Given the description of an element on the screen output the (x, y) to click on. 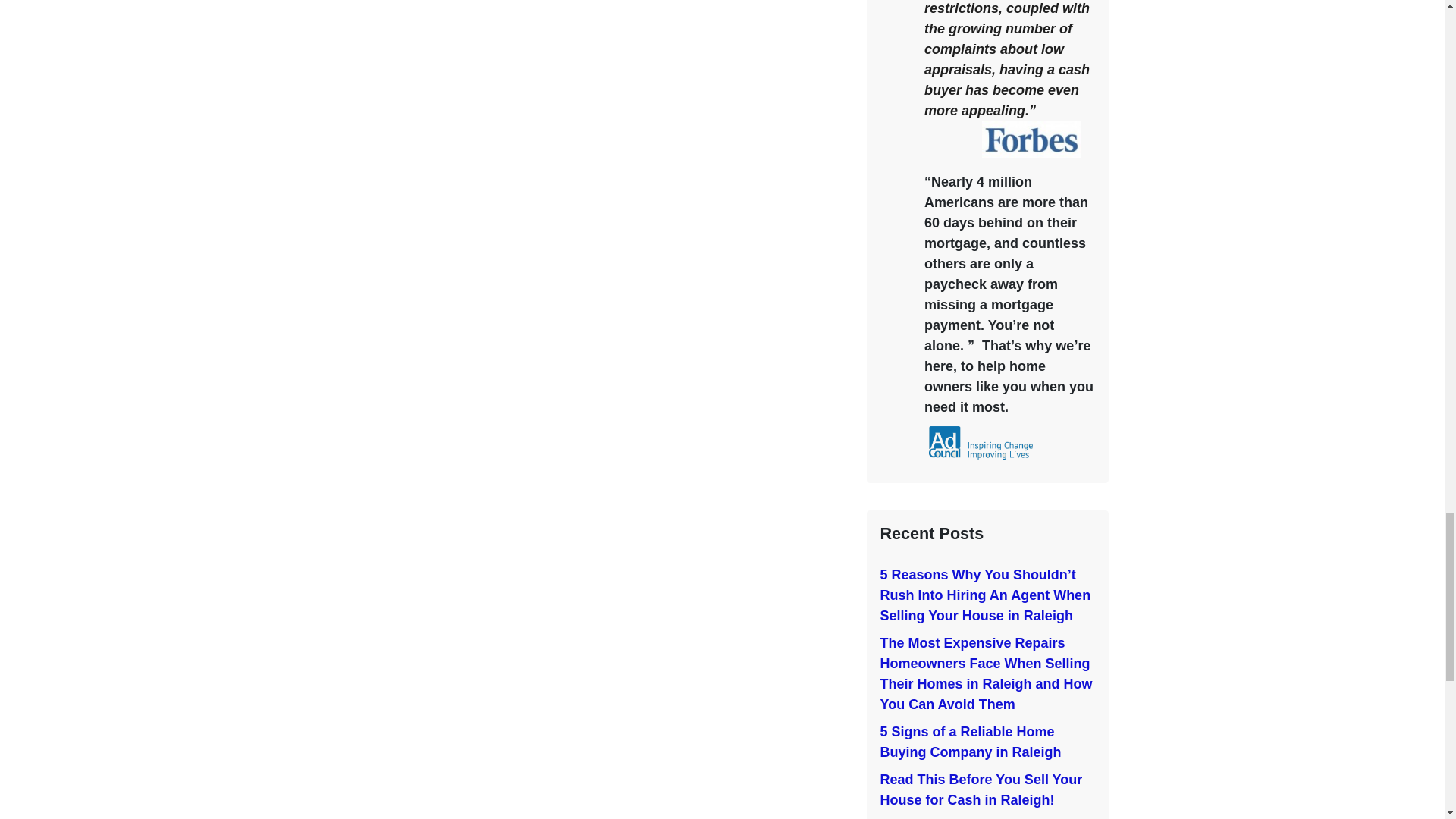
5 Signs of a Reliable Home Buying Company in Raleigh (970, 741)
Read This Before You Sell Your House for Cash in Raleigh! (980, 789)
